Given the description of an element on the screen output the (x, y) to click on. 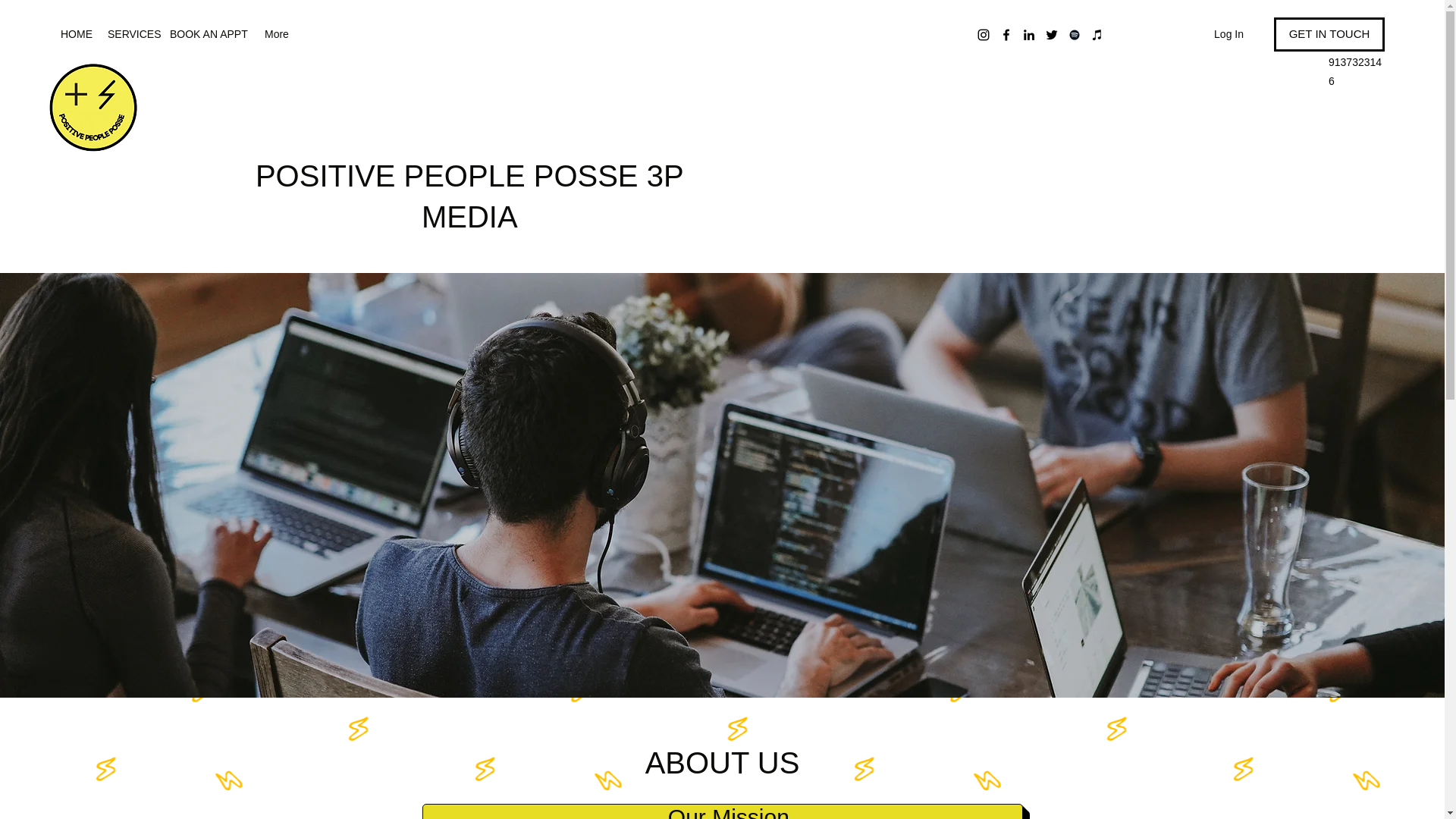
BOOK AN APPT (209, 33)
POSITIVE PEOPLE POSSE 3P MEDIA (470, 195)
HOME (76, 33)
GET IN TOUCH (1329, 34)
SERVICES (130, 33)
Log In (1228, 34)
